Given the description of an element on the screen output the (x, y) to click on. 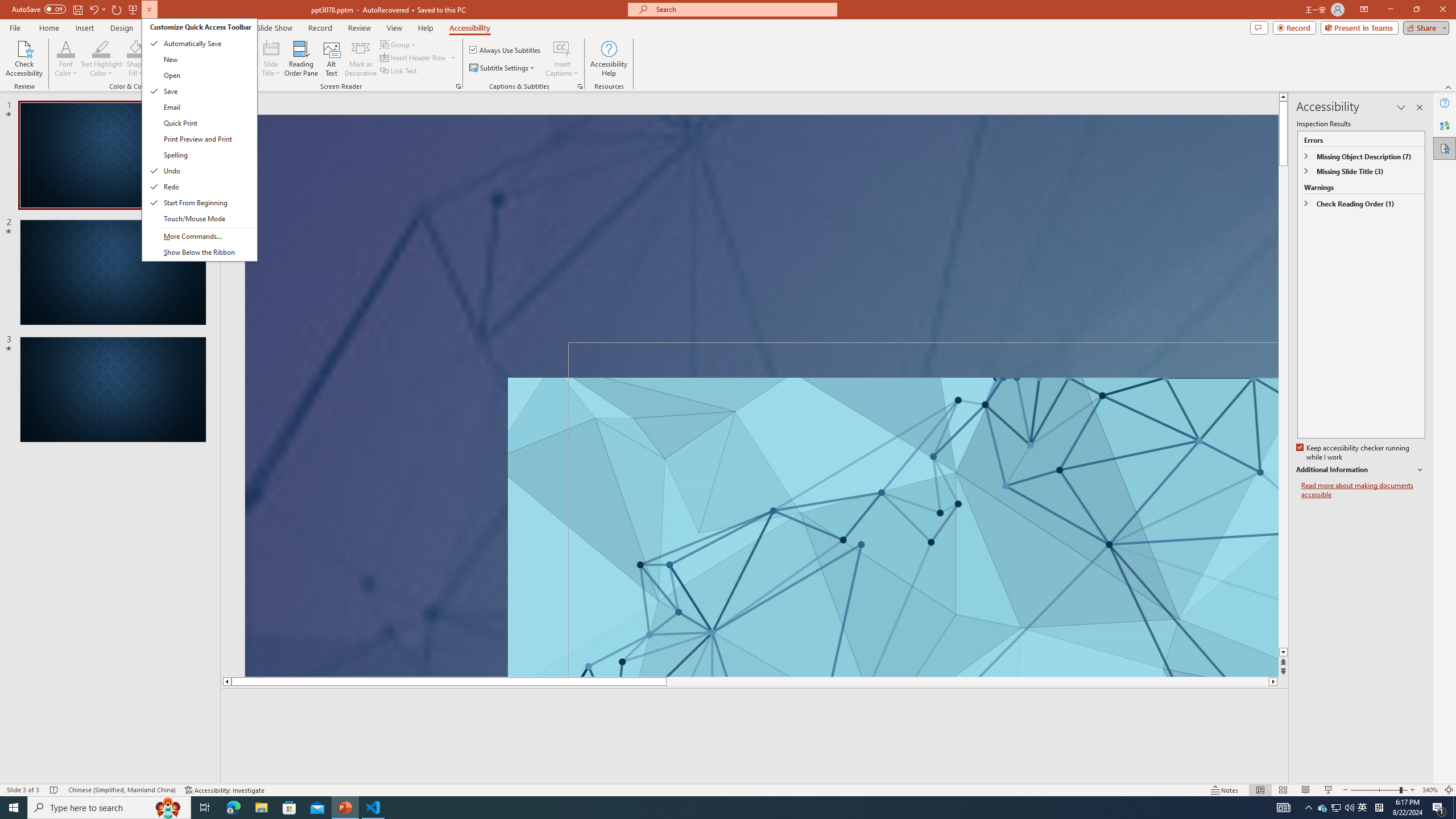
Action Center, 1 new notification (1439, 807)
Link Text (399, 69)
An abstract genetic concept (893, 526)
Subtitle Settings (502, 67)
